Given the description of an element on the screen output the (x, y) to click on. 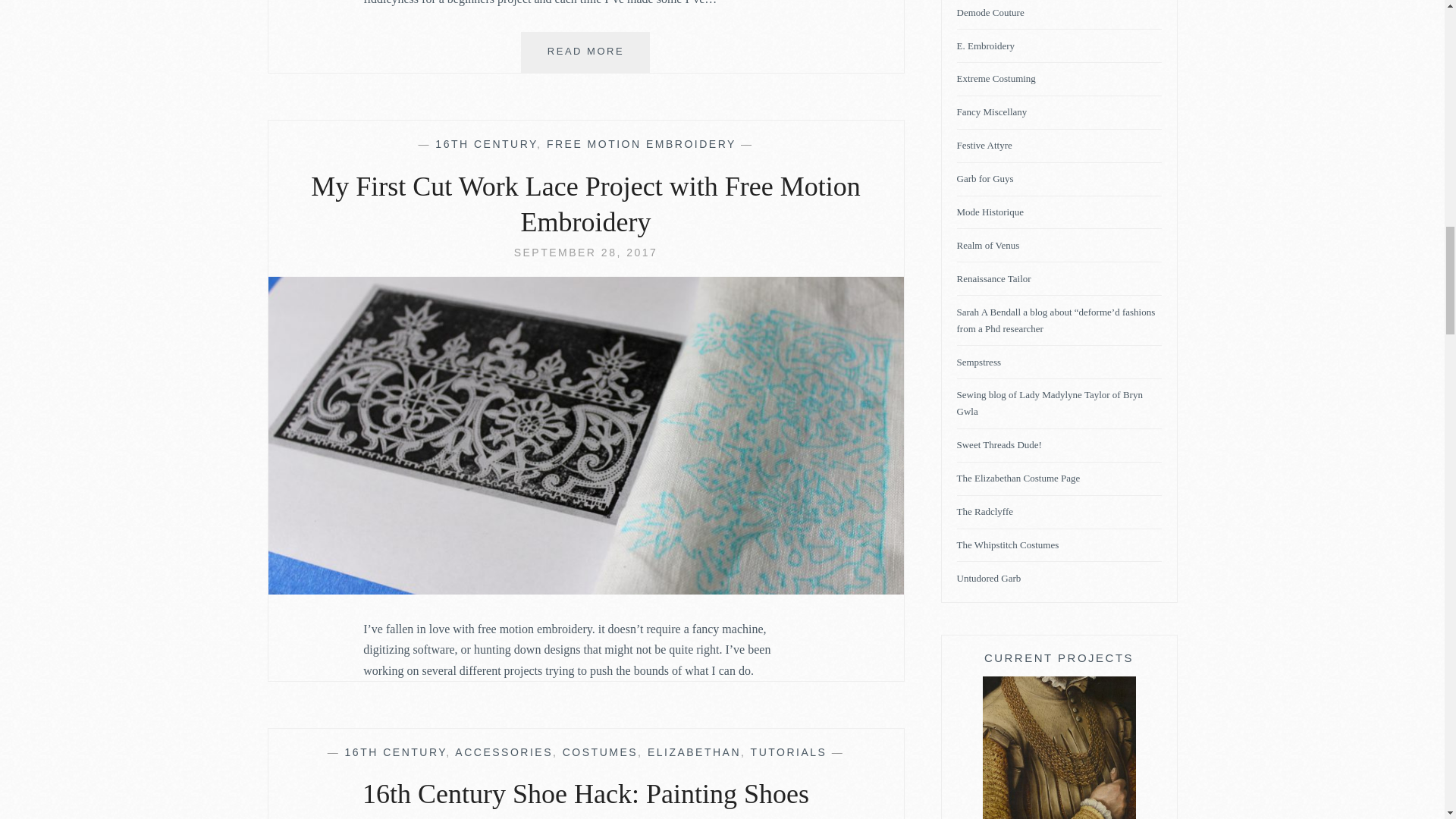
SEPTEMBER 28, 2017 (585, 252)
My First Cut Work Lace Project with Free Motion Embroidery (585, 205)
My First Cut Work Lace Project with Free Motion Embroidery (585, 252)
16TH CENTURY (486, 143)
ELIZABETHAN (694, 752)
TUTORIALS (789, 752)
My First Cut Work Lace Project with Free Motion Embroidery (585, 590)
COSTUMES (599, 752)
ACCESSORIES (503, 752)
FREE MOTION EMBROIDERY (585, 51)
16TH CENTURY (641, 143)
16th Century Shoe Hack: Painting Shoes (395, 752)
